Given the description of an element on the screen output the (x, y) to click on. 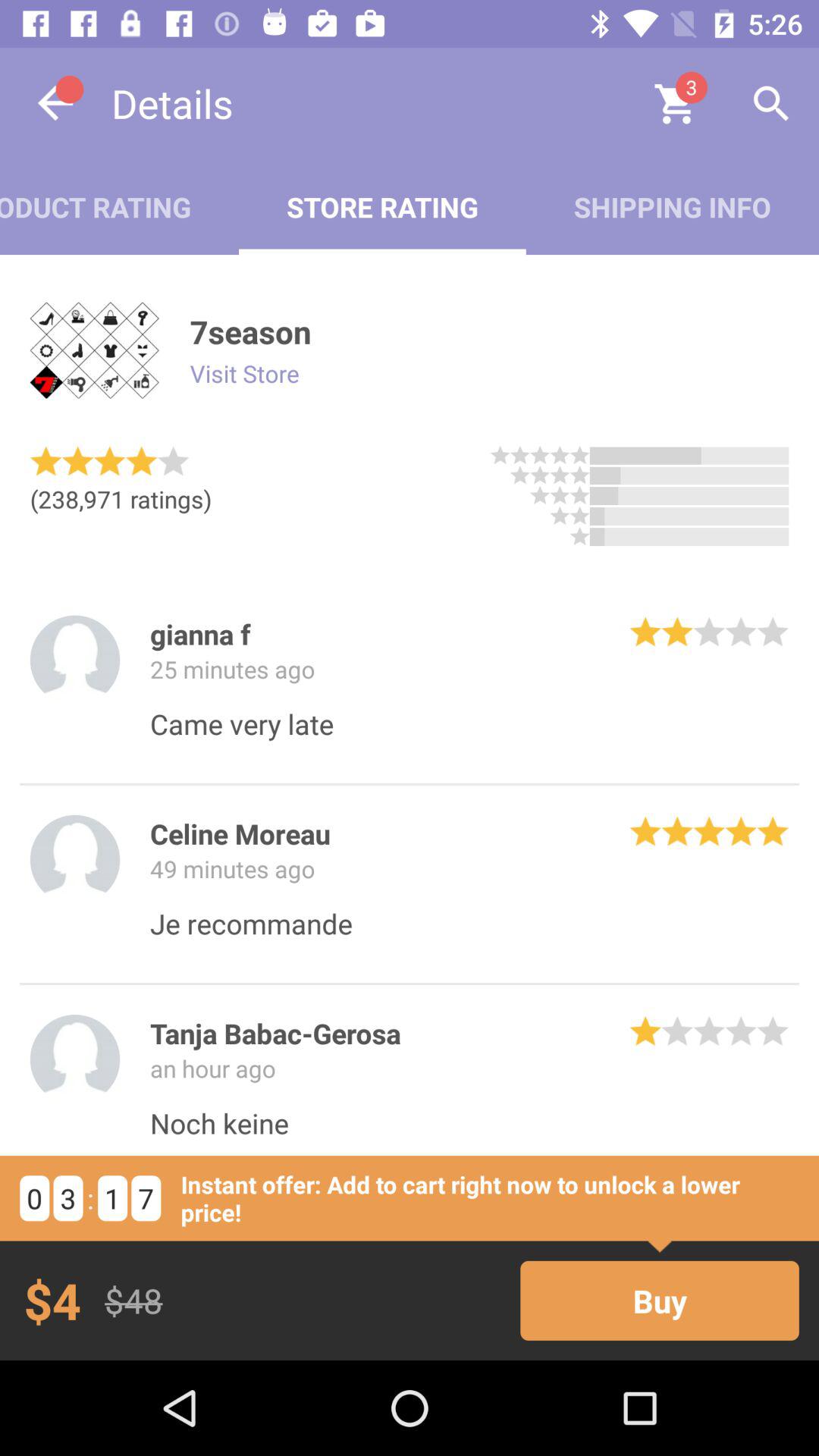
turn on shipping info (672, 206)
